Given the description of an element on the screen output the (x, y) to click on. 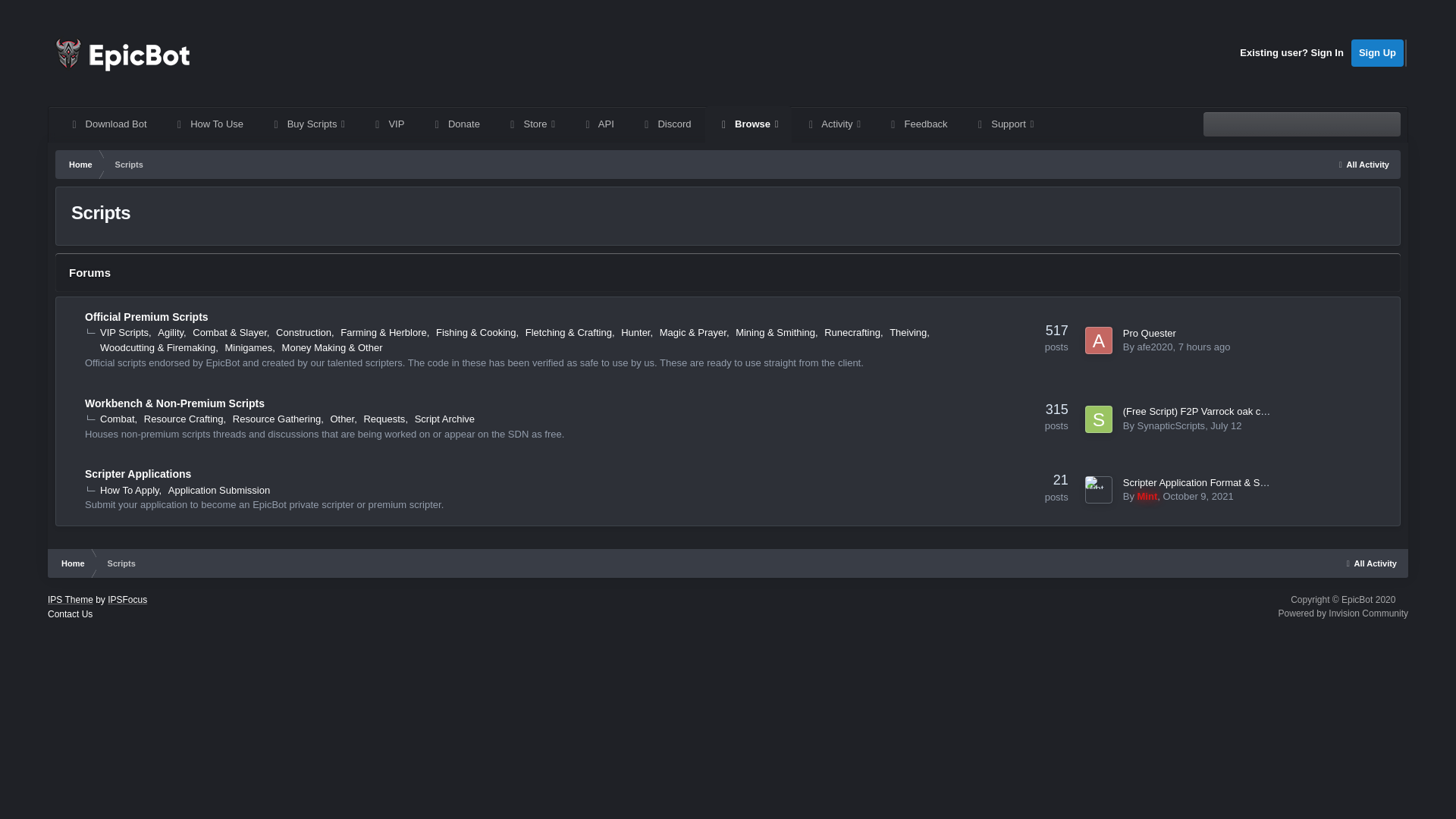
Go to Mint's profile (1147, 496)
Download Bot (107, 124)
Go to last post (1225, 425)
Go to last post (1197, 496)
Pro Quester (1149, 333)
Go to SynapticScripts's profile (1098, 419)
How To Use (208, 124)
Home (72, 563)
Invision Community (1342, 613)
Sign Up (1377, 52)
